Given the description of an element on the screen output the (x, y) to click on. 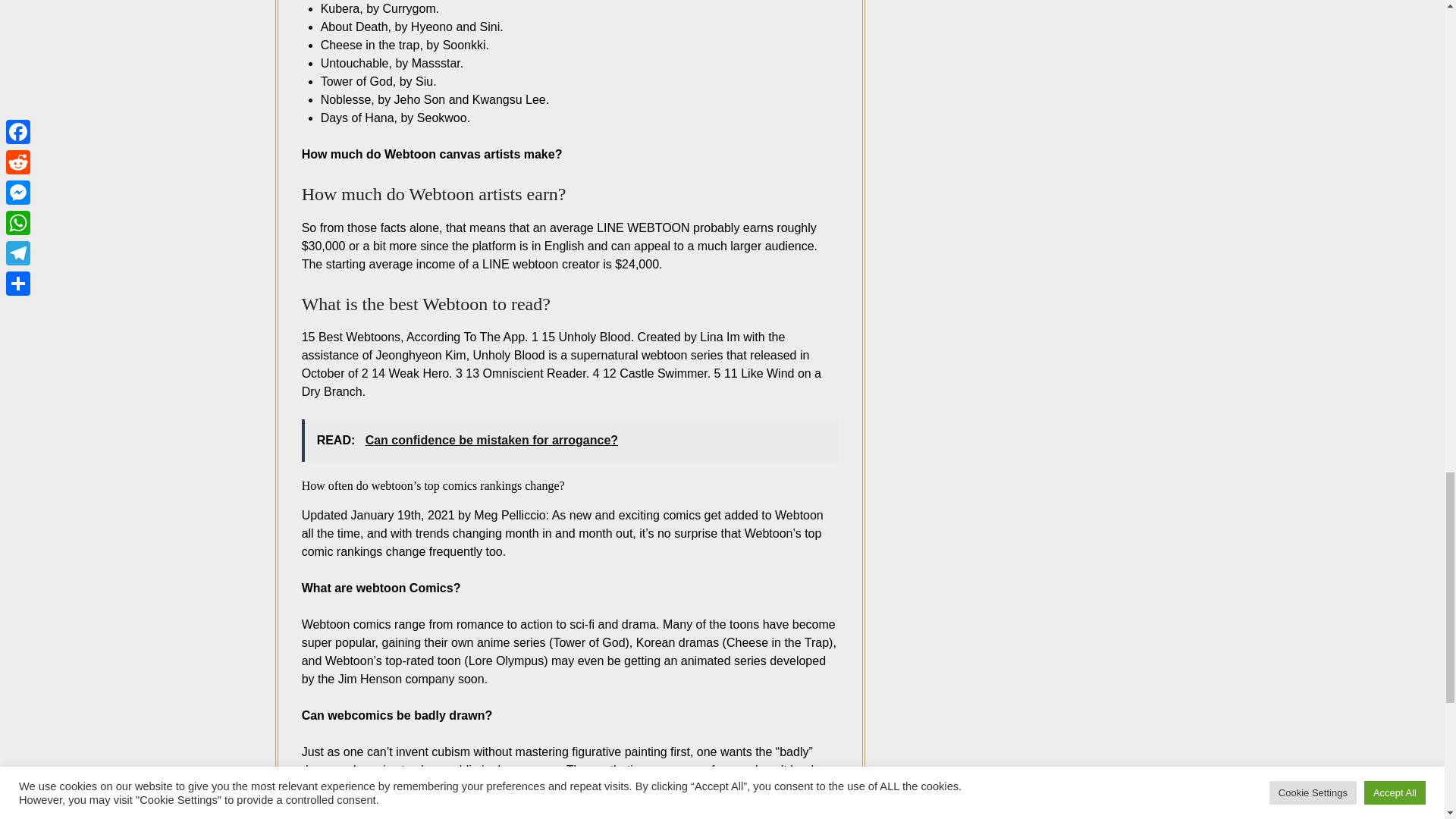
READ:   Can confidence be mistaken for arrogance? (570, 440)
